Given the description of an element on the screen output the (x, y) to click on. 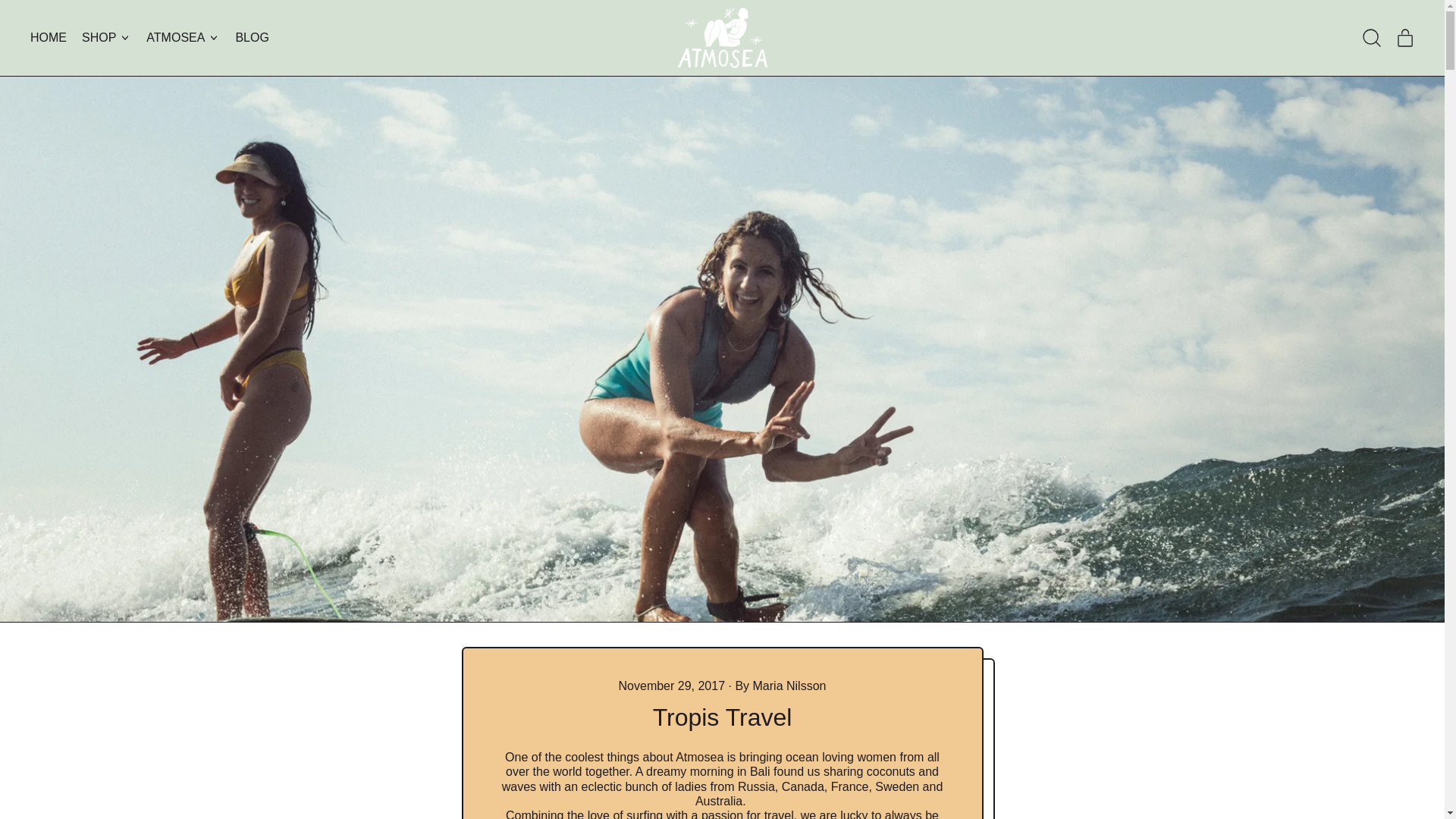
SHOP (106, 37)
Page 2 (721, 784)
Search our site (1405, 37)
BLOG (1372, 37)
HOME (251, 37)
ATMOSEA (48, 37)
